Given the description of an element on the screen output the (x, y) to click on. 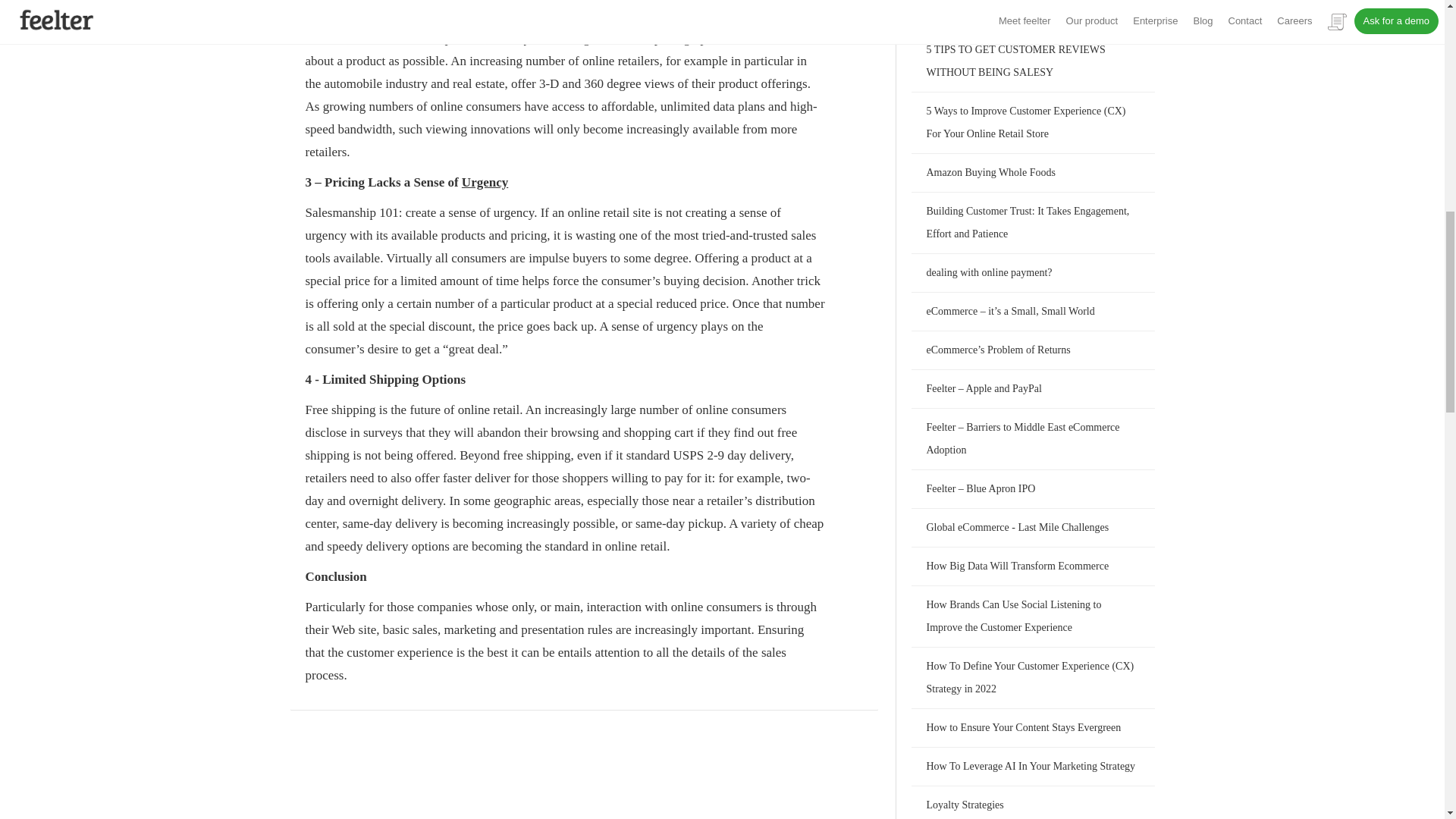
Global eCommerce - Last Mile Challenges (1017, 527)
dealing with online payment? (989, 272)
5 TIPS TO GET CUSTOMER REVIEWS WITHOUT BEING SALESY (1015, 60)
How Big Data Will Transform Ecommerce (1017, 565)
5 Things I Learned About Business From an Asian Monastery (1020, 8)
Amazon Buying Whole Foods (990, 172)
